Given the description of an element on the screen output the (x, y) to click on. 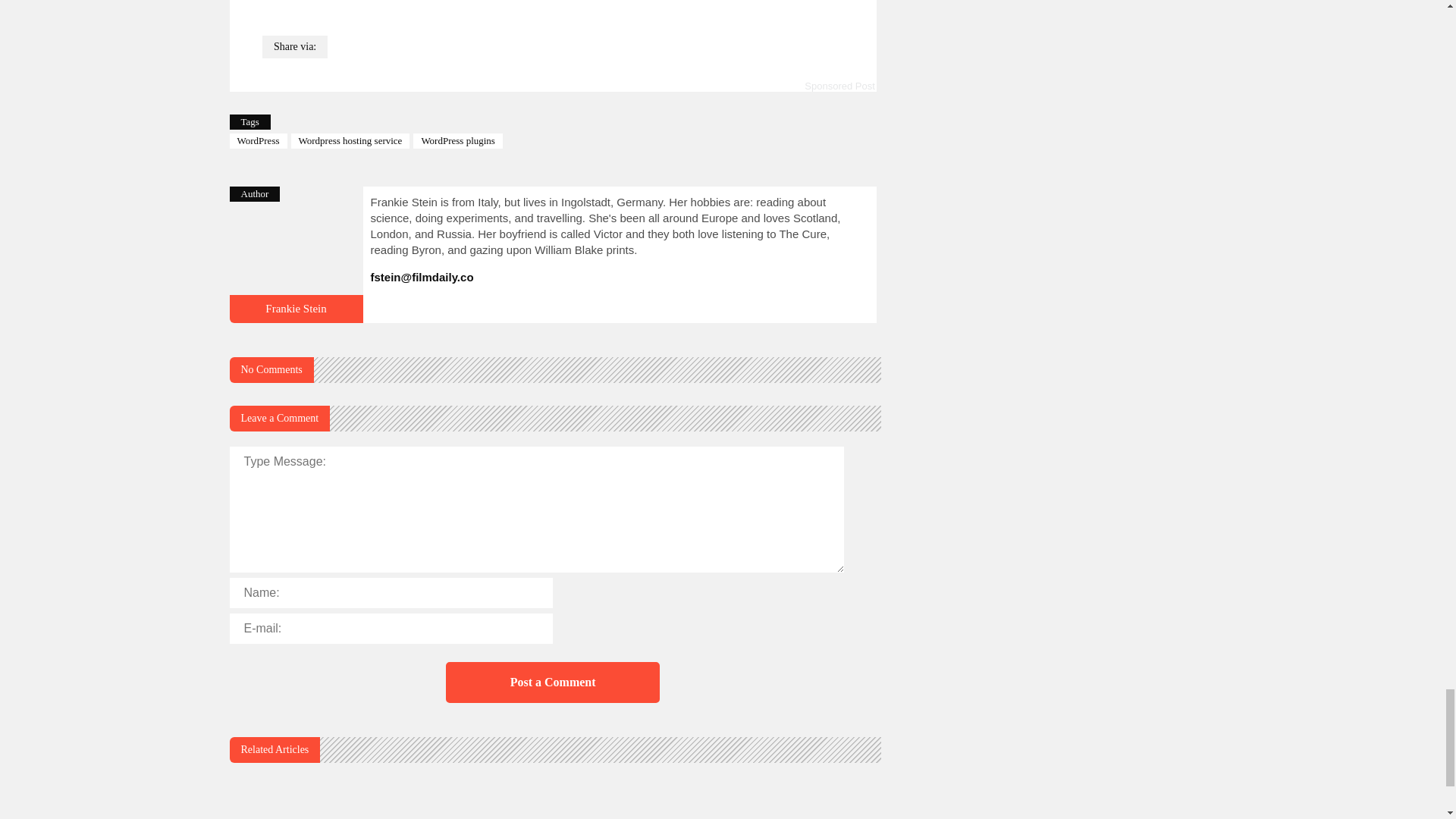
Post a Comment (552, 681)
